Given the description of an element on the screen output the (x, y) to click on. 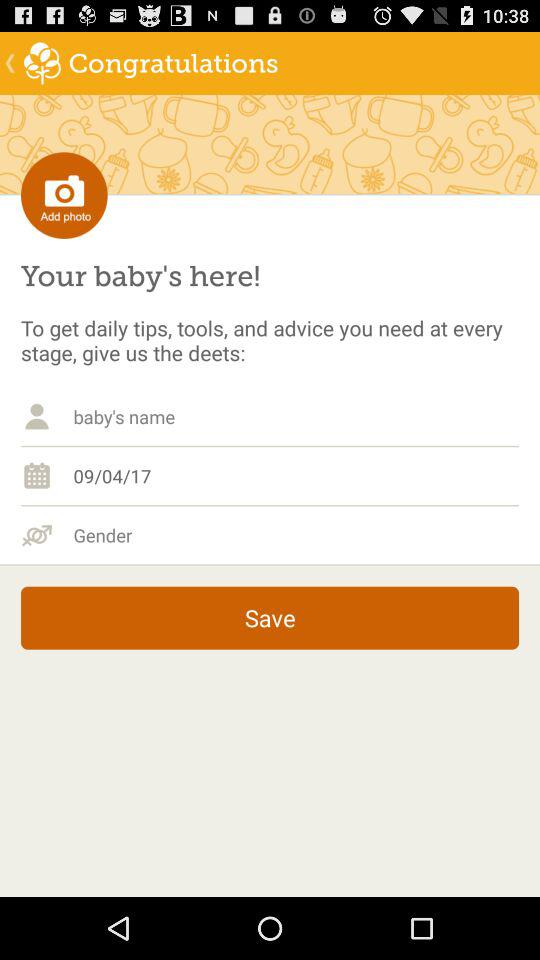
choose gender (296, 535)
